Given the description of an element on the screen output the (x, y) to click on. 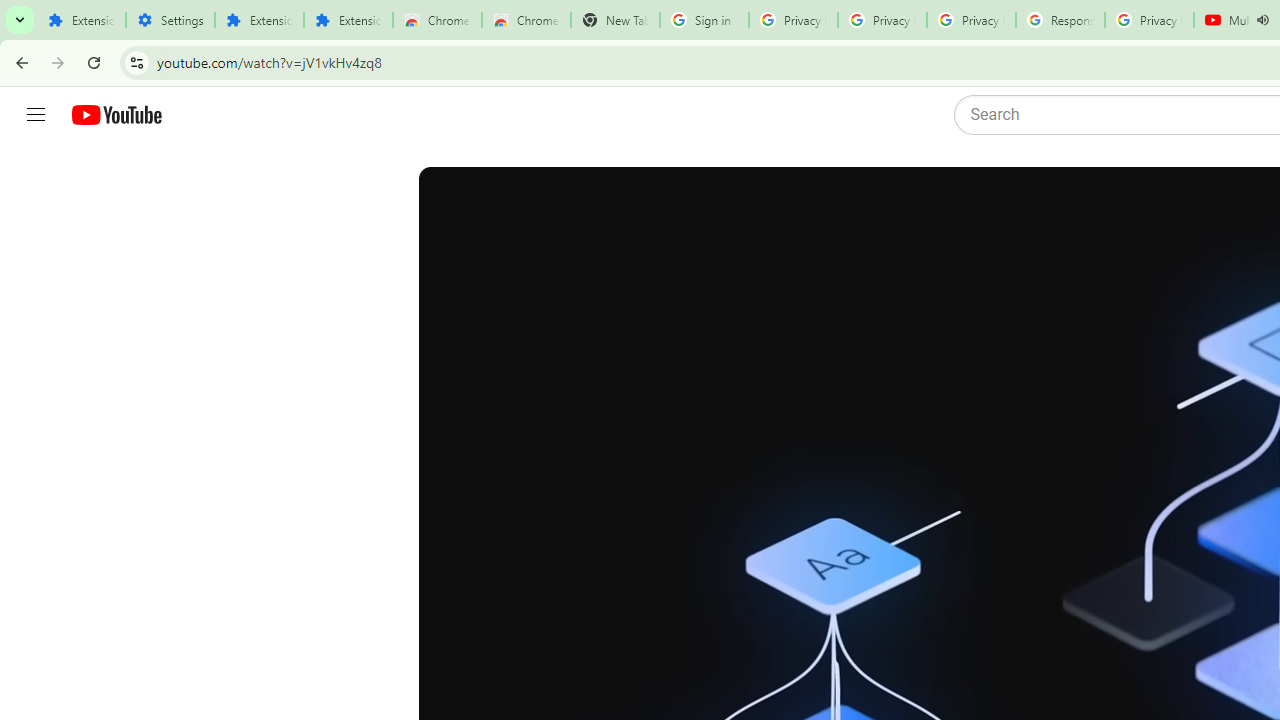
New Tab (615, 20)
Guide (35, 115)
Extensions (81, 20)
